Given the description of an element on the screen output the (x, y) to click on. 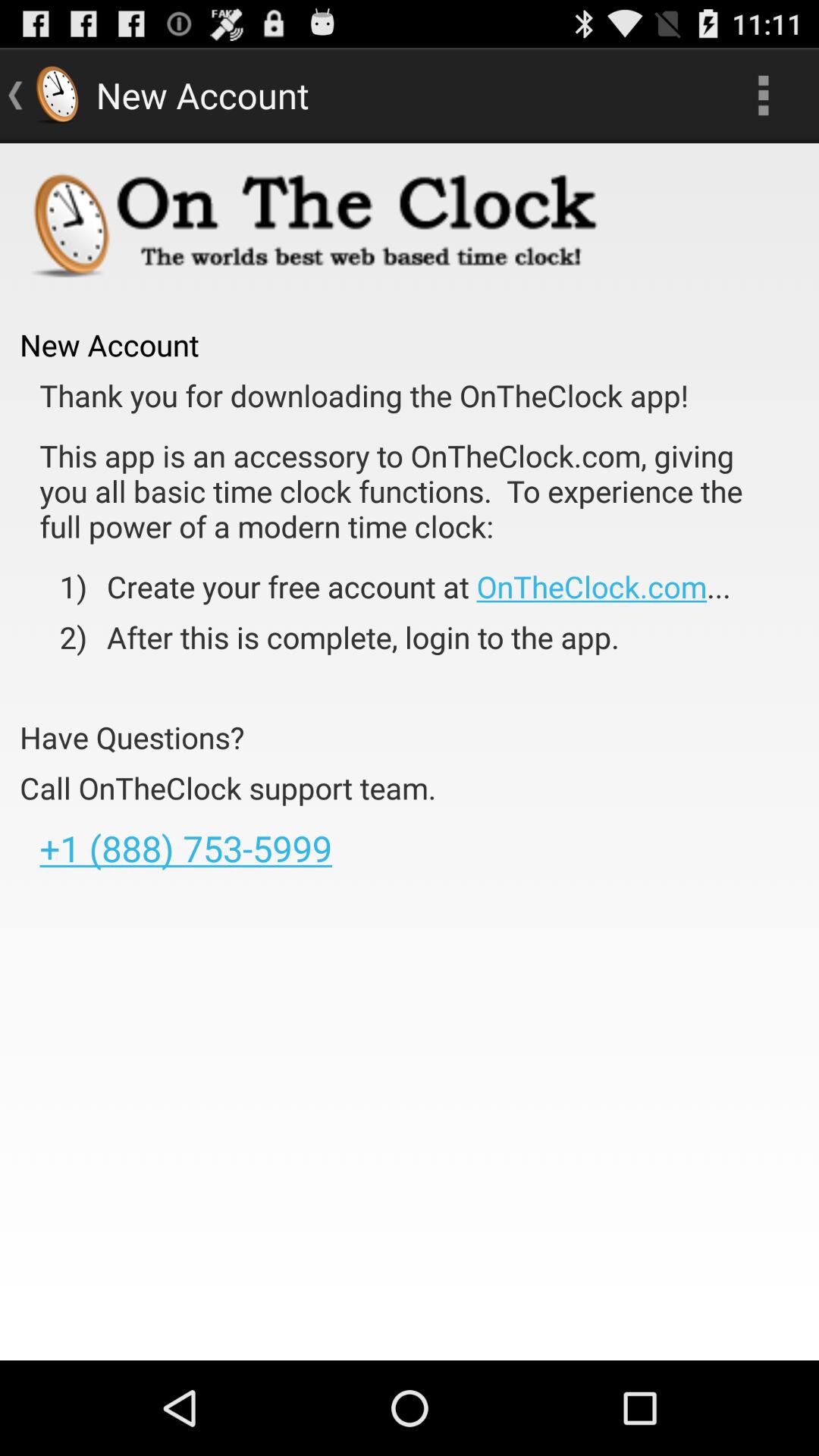
select app to the right of new account item (763, 95)
